Given the description of an element on the screen output the (x, y) to click on. 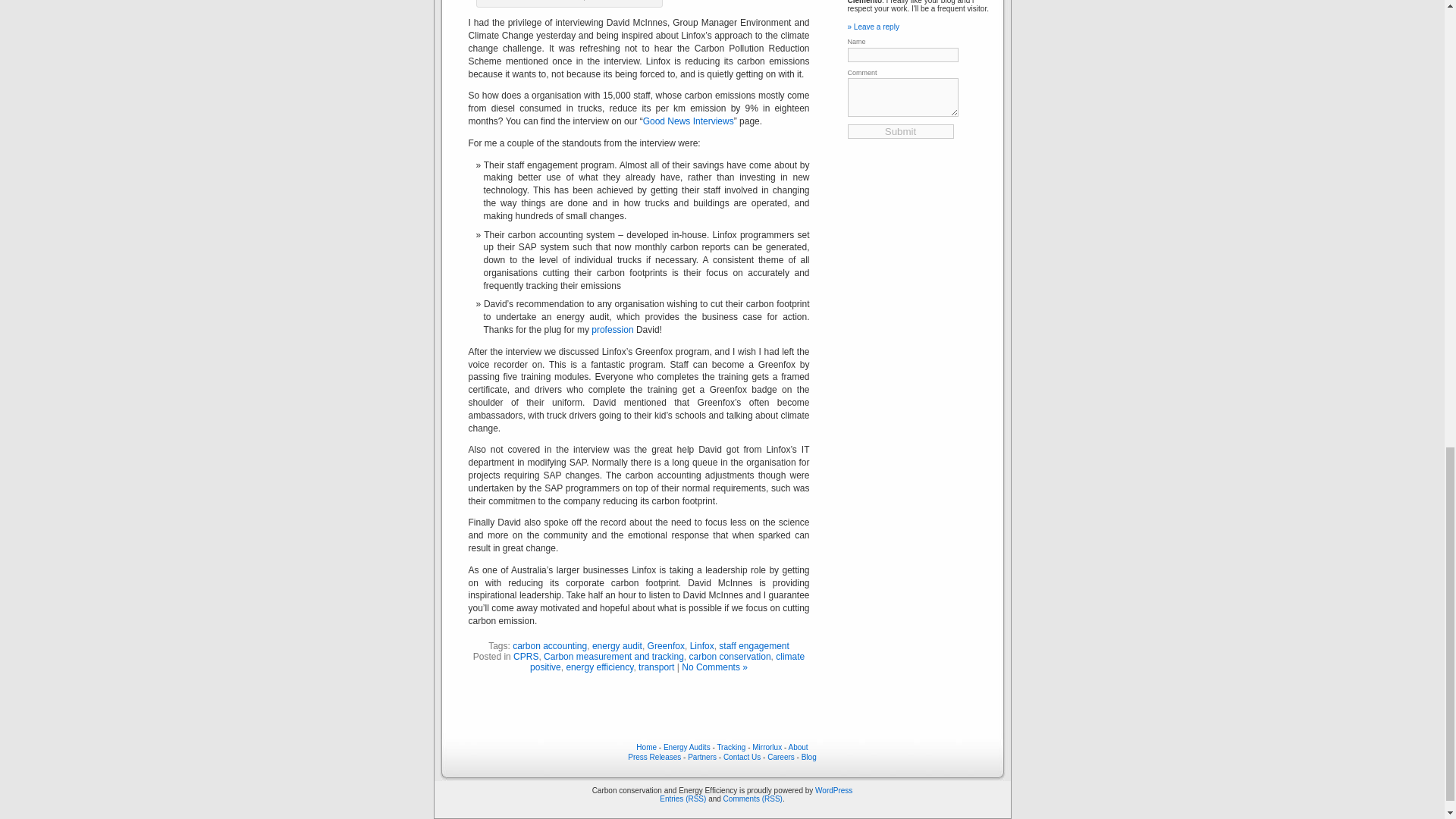
transport (656, 666)
View all posts in climate positive (667, 661)
View all posts in CPRS (525, 656)
carbon accounting (549, 645)
energy audit (617, 645)
Good news interviews (688, 121)
Energy Audits (612, 329)
staff engagement (754, 645)
energy efficiency (599, 666)
profession (612, 329)
